Given the description of an element on the screen output the (x, y) to click on. 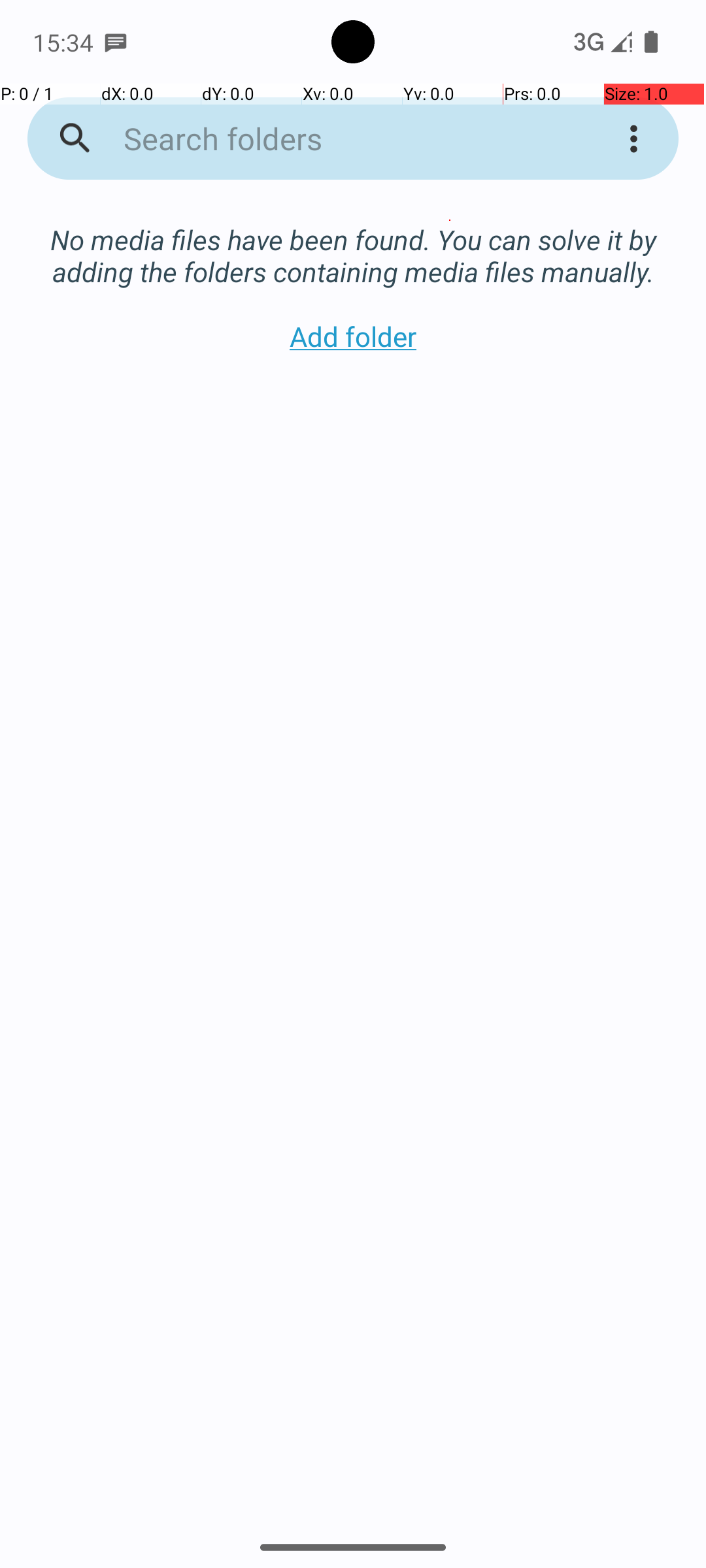
No media files have been found. You can solve it by adding the folders containing media files manually. Element type: android.widget.TextView (353, 241)
Add folder Element type: android.widget.TextView (352, 336)
Search folders Element type: android.widget.EditText (335, 138)
